Given the description of an element on the screen output the (x, y) to click on. 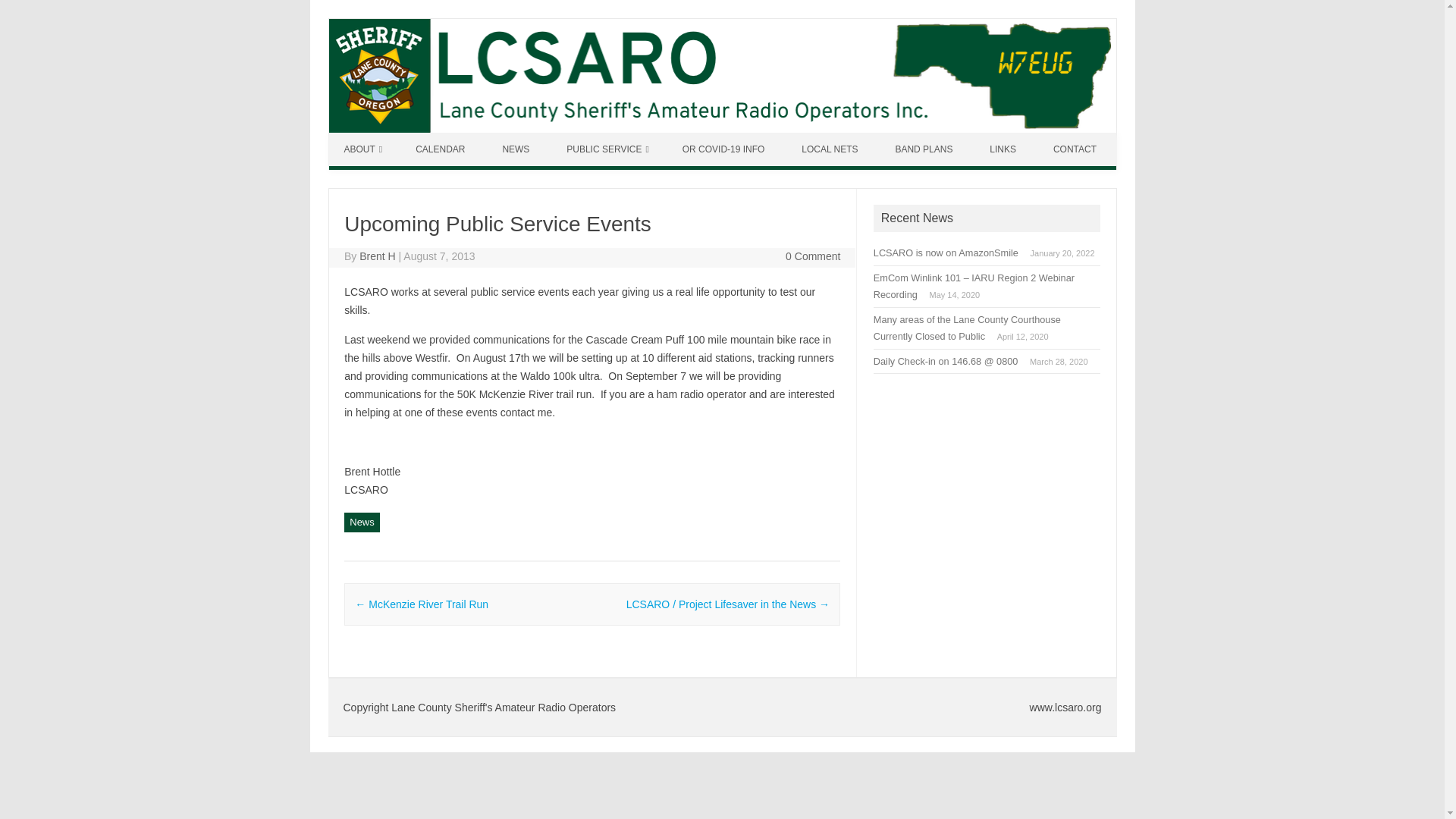
ABOUT (363, 149)
News (361, 522)
Skip to content (363, 137)
LINKS (1004, 149)
CALENDAR (441, 149)
Lane County Sheriff's Amateur Radio Operators (722, 128)
OR COVID-19 INFO (725, 149)
Brent H (376, 256)
Skip to content (363, 137)
LCSARO is now on AmazonSmile (945, 252)
BAND PLANS (925, 149)
LOCAL NETS (831, 149)
Posts by Brent H (376, 256)
PUBLIC SERVICE (607, 149)
